Given the description of an element on the screen output the (x, y) to click on. 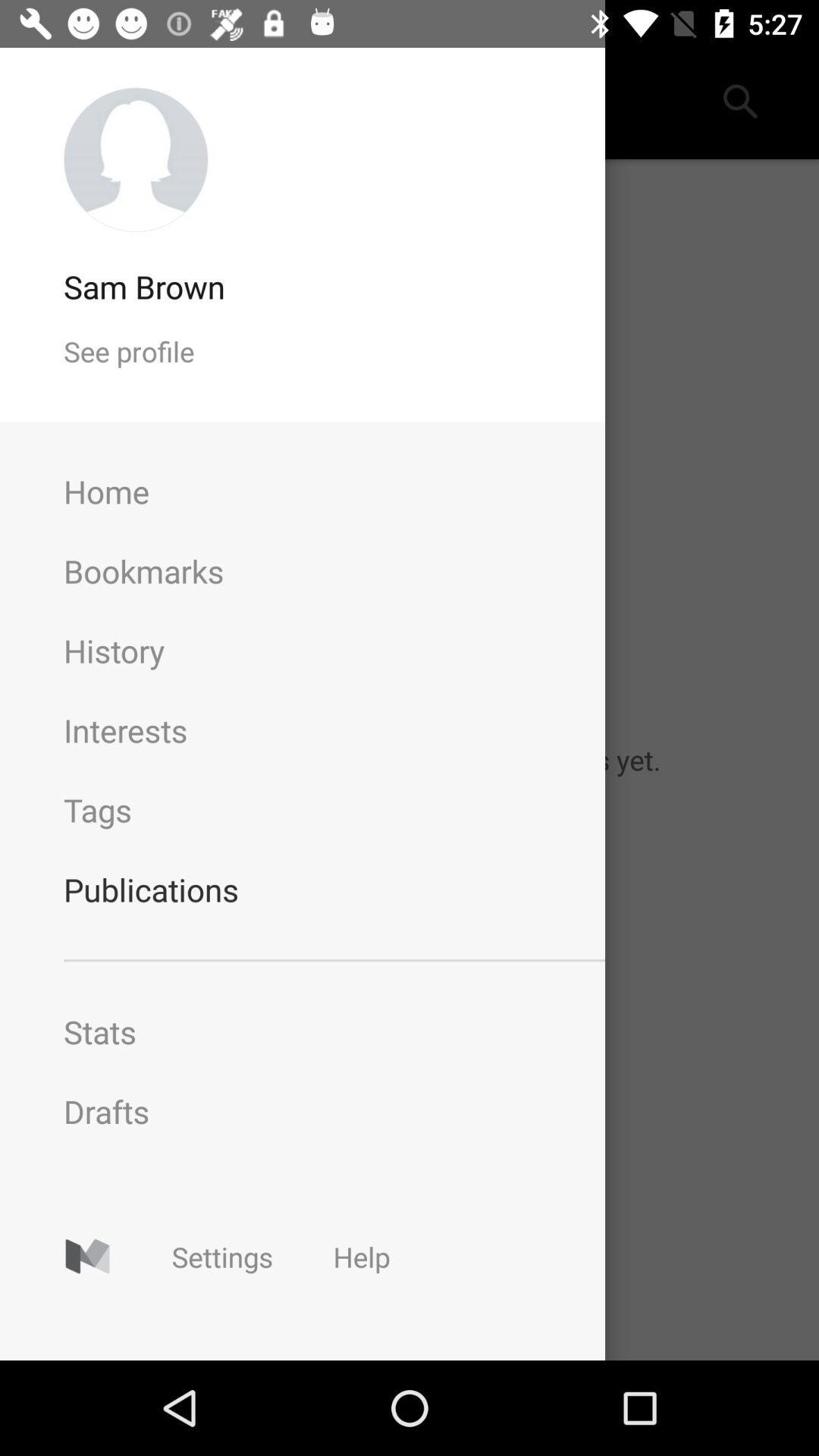
click on the button which is next to the settings (361, 1257)
